Given the description of an element on the screen output the (x, y) to click on. 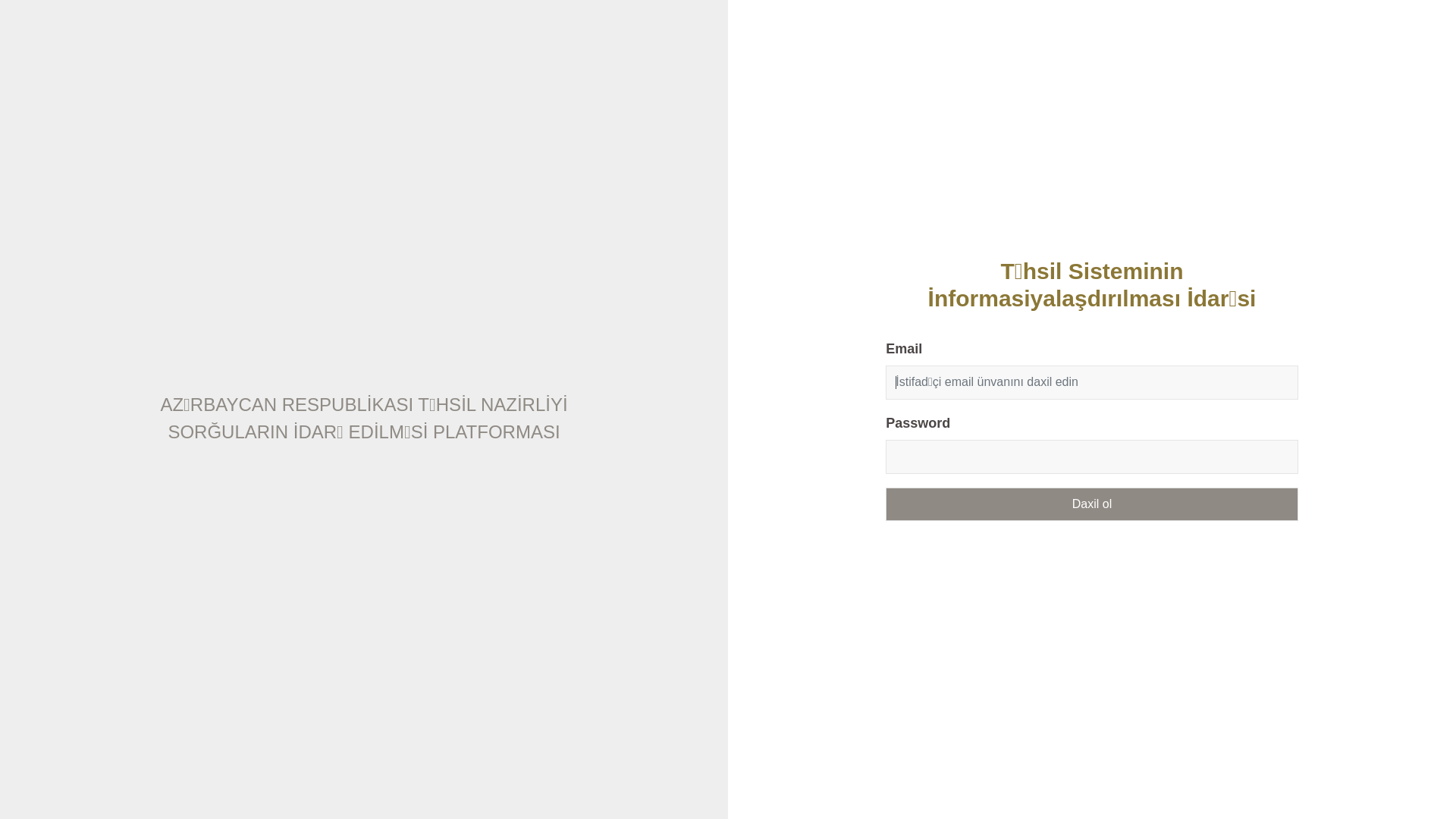
Daxil ol Element type: text (1091, 503)
